Given the description of an element on the screen output the (x, y) to click on. 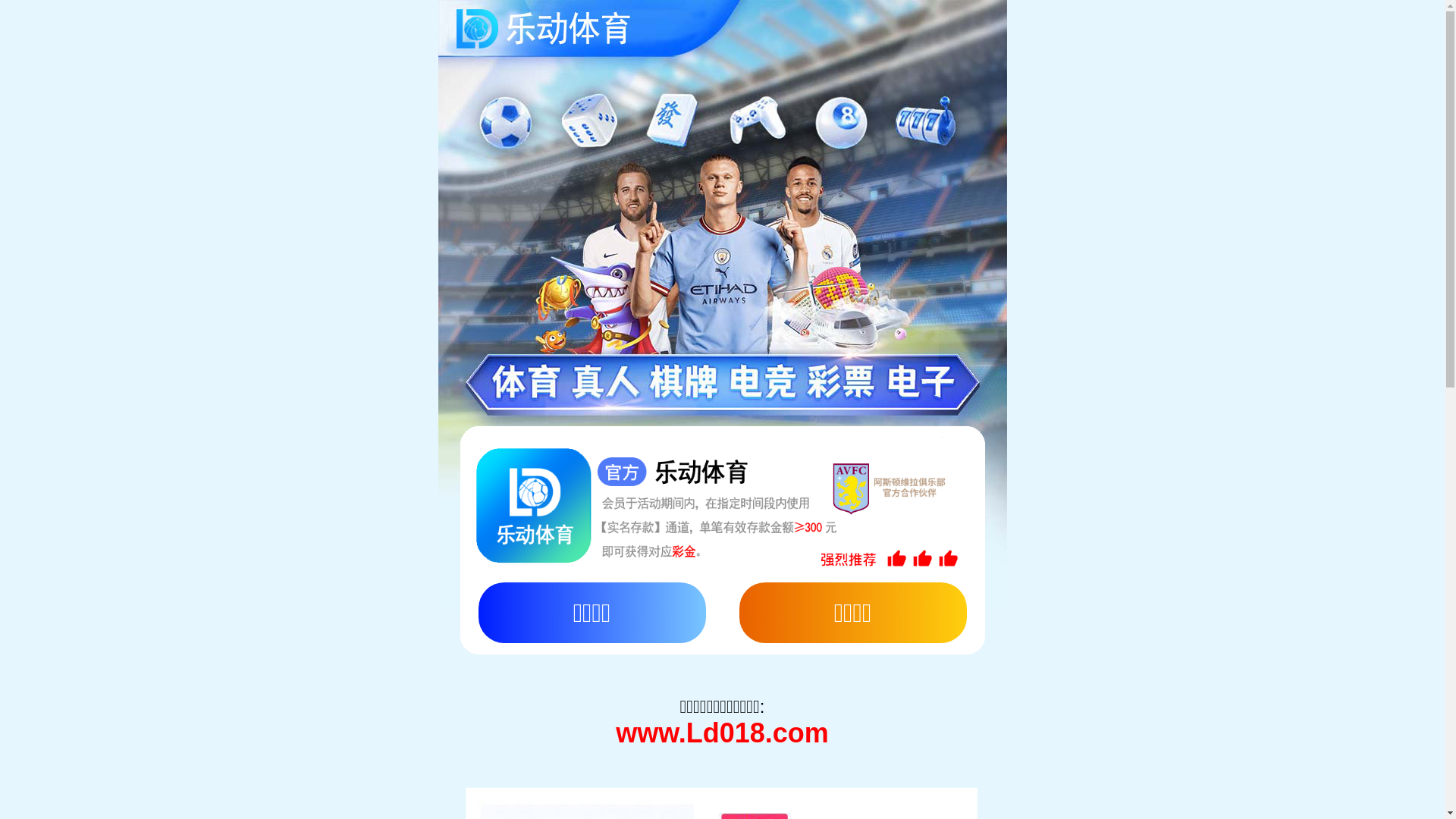
Read More Element type: text (141, 629)
Home Element type: text (166, 440)
Read More Element type: text (141, 807)
